Given the description of an element on the screen output the (x, y) to click on. 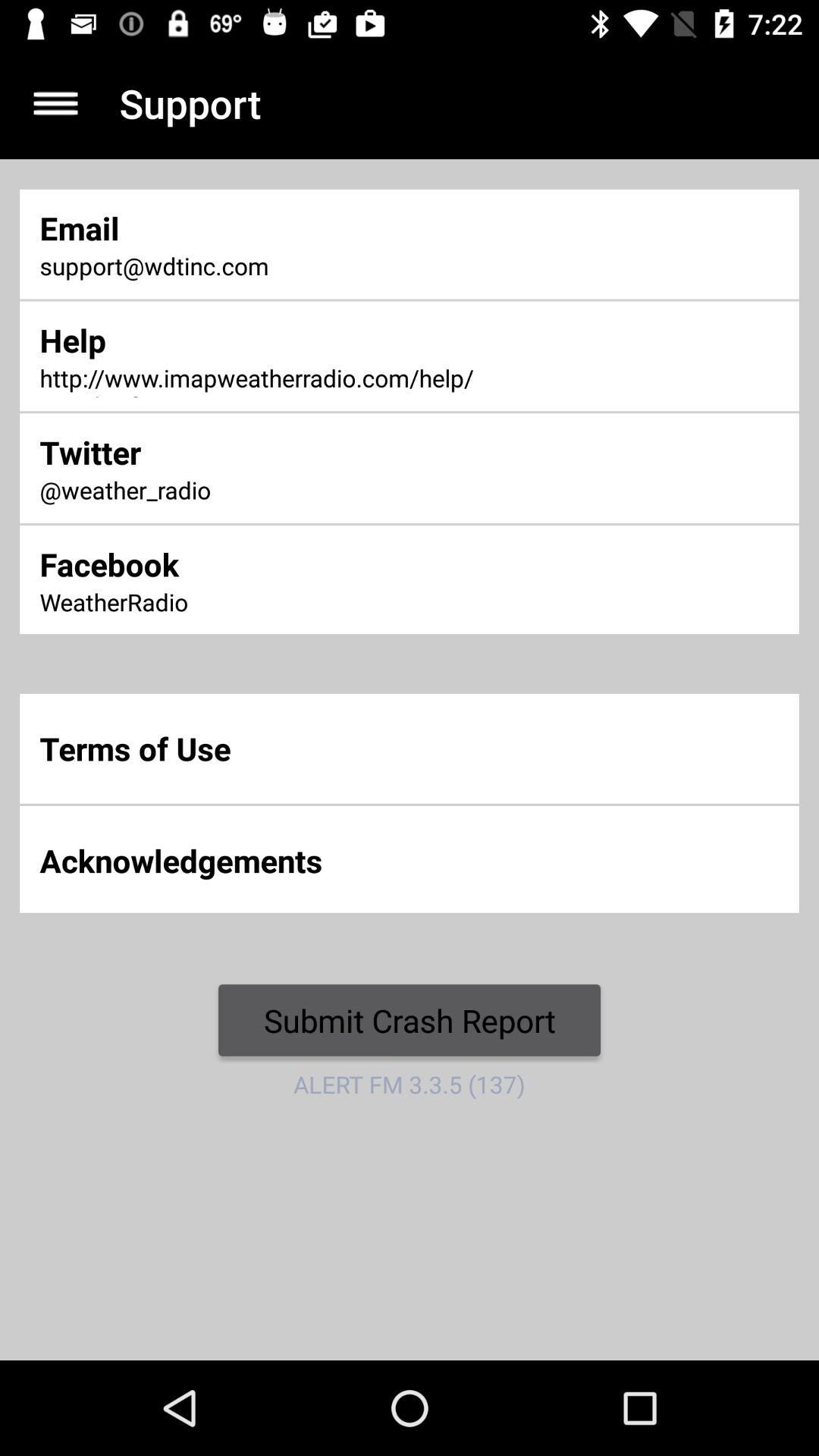
turn on the email (272, 227)
